Given the description of an element on the screen output the (x, y) to click on. 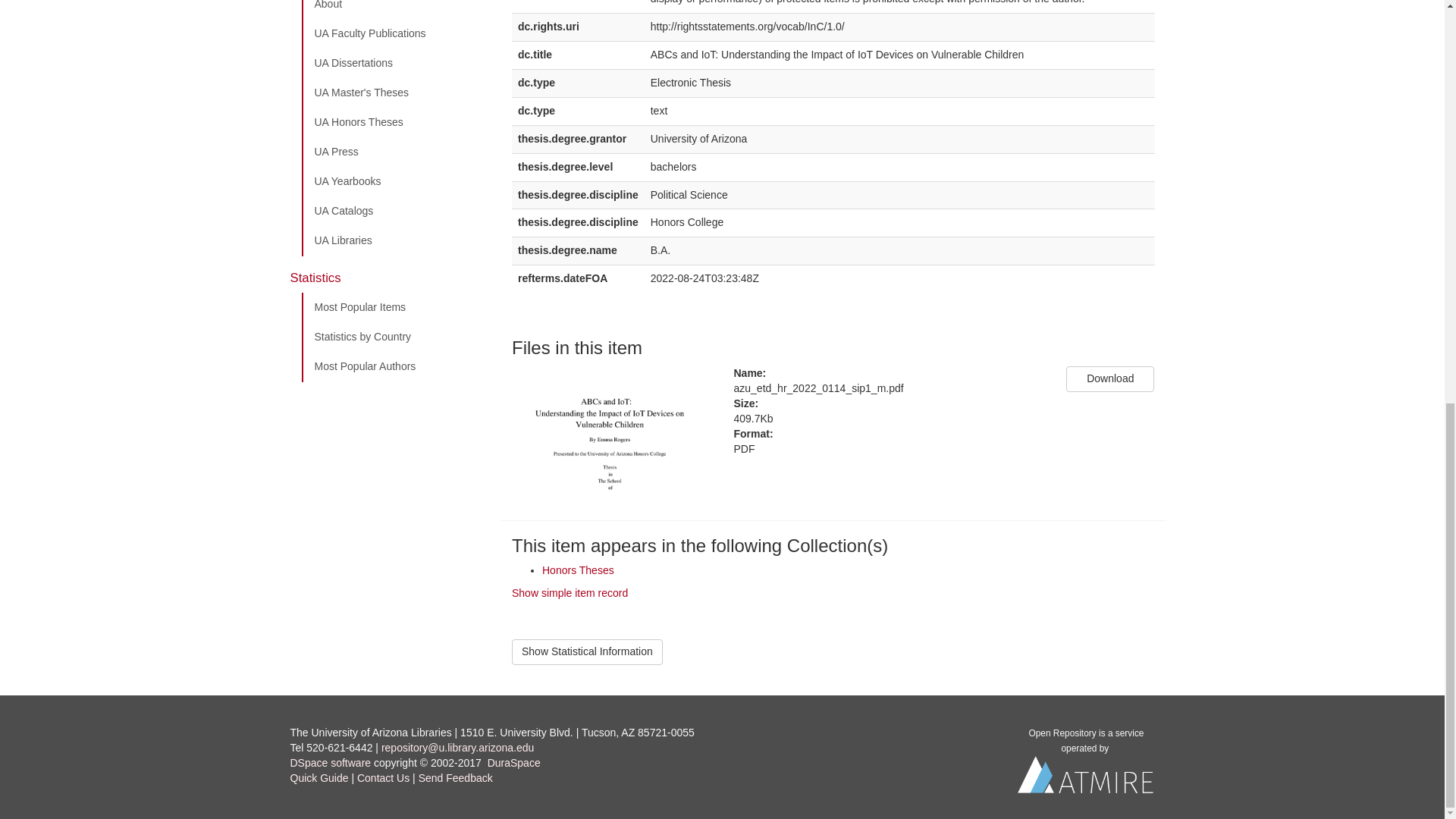
UA Master's Theses (395, 92)
UA Dissertations (395, 63)
About (395, 9)
UA Honors Theses (395, 122)
UA Faculty Publications (395, 33)
Atmire NV (1085, 778)
UA Press (395, 152)
